Given the description of an element on the screen output the (x, y) to click on. 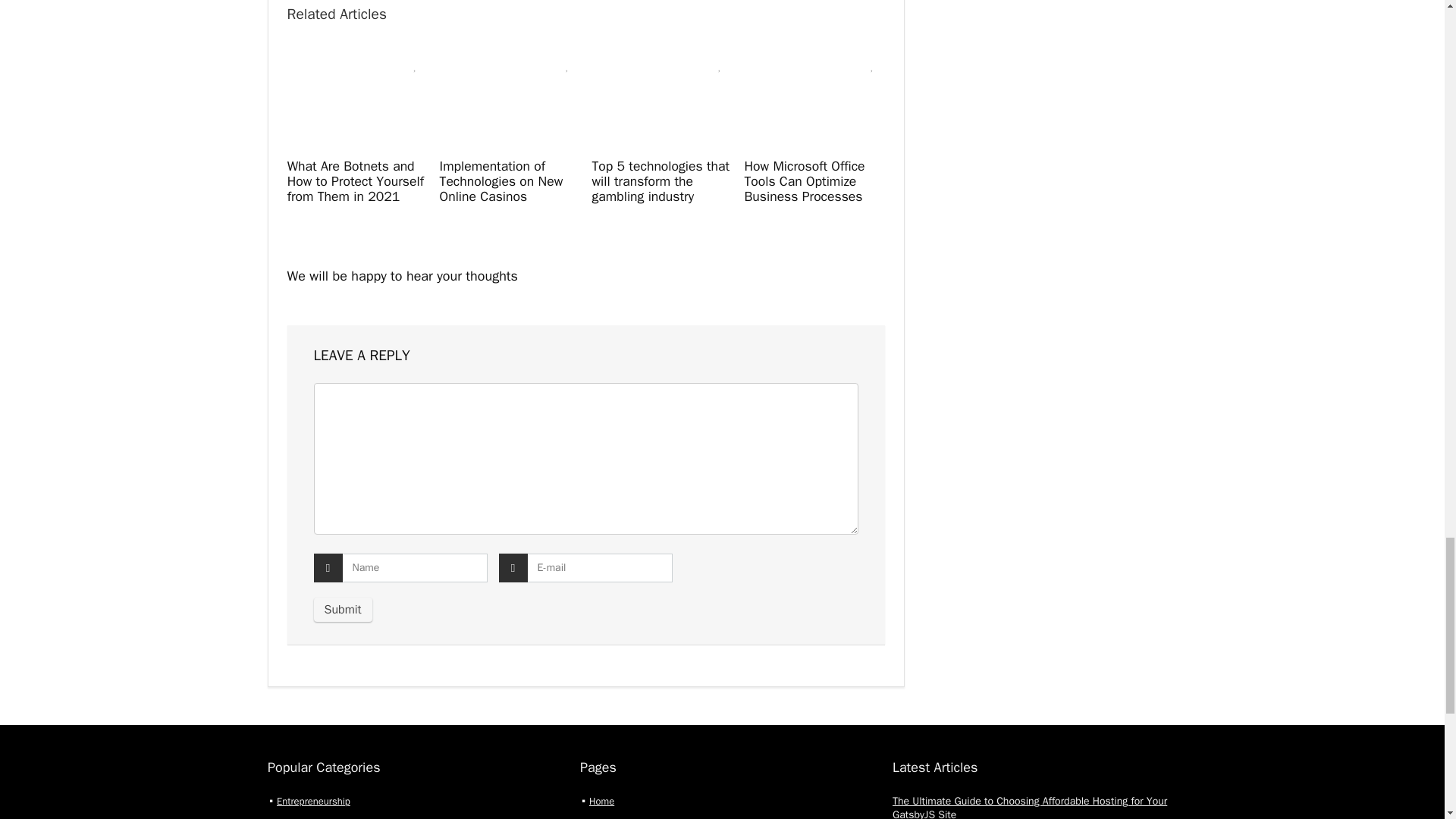
Submit (343, 609)
How Microsoft Office Tools Can Optimize Business Processes (804, 181)
Submit (343, 609)
Implementation of Technologies on New Online Casinos (501, 181)
Top 5 technologies that will transform the gambling industry (660, 181)
